Given the description of an element on the screen output the (x, y) to click on. 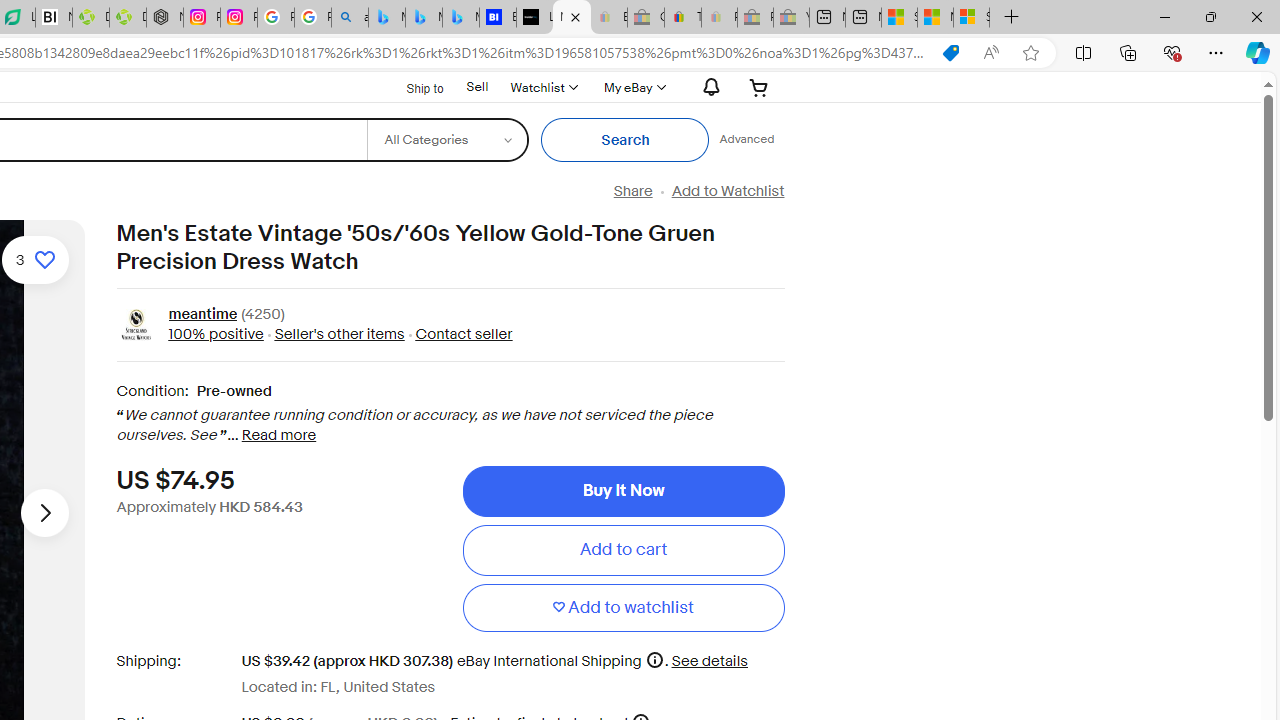
meantime (202, 315)
Read more about condition (278, 435)
Payments Terms of Use | eBay.com - Sleeping (719, 17)
Microsoft Bing Travel - Shangri-La Hotel Bangkok (460, 17)
My eBay (632, 87)
Sell (477, 86)
alabama high school quarterback dies - Search (349, 17)
See details for shipping (708, 660)
WatchlistExpand Watch List (543, 87)
